Given the description of an element on the screen output the (x, y) to click on. 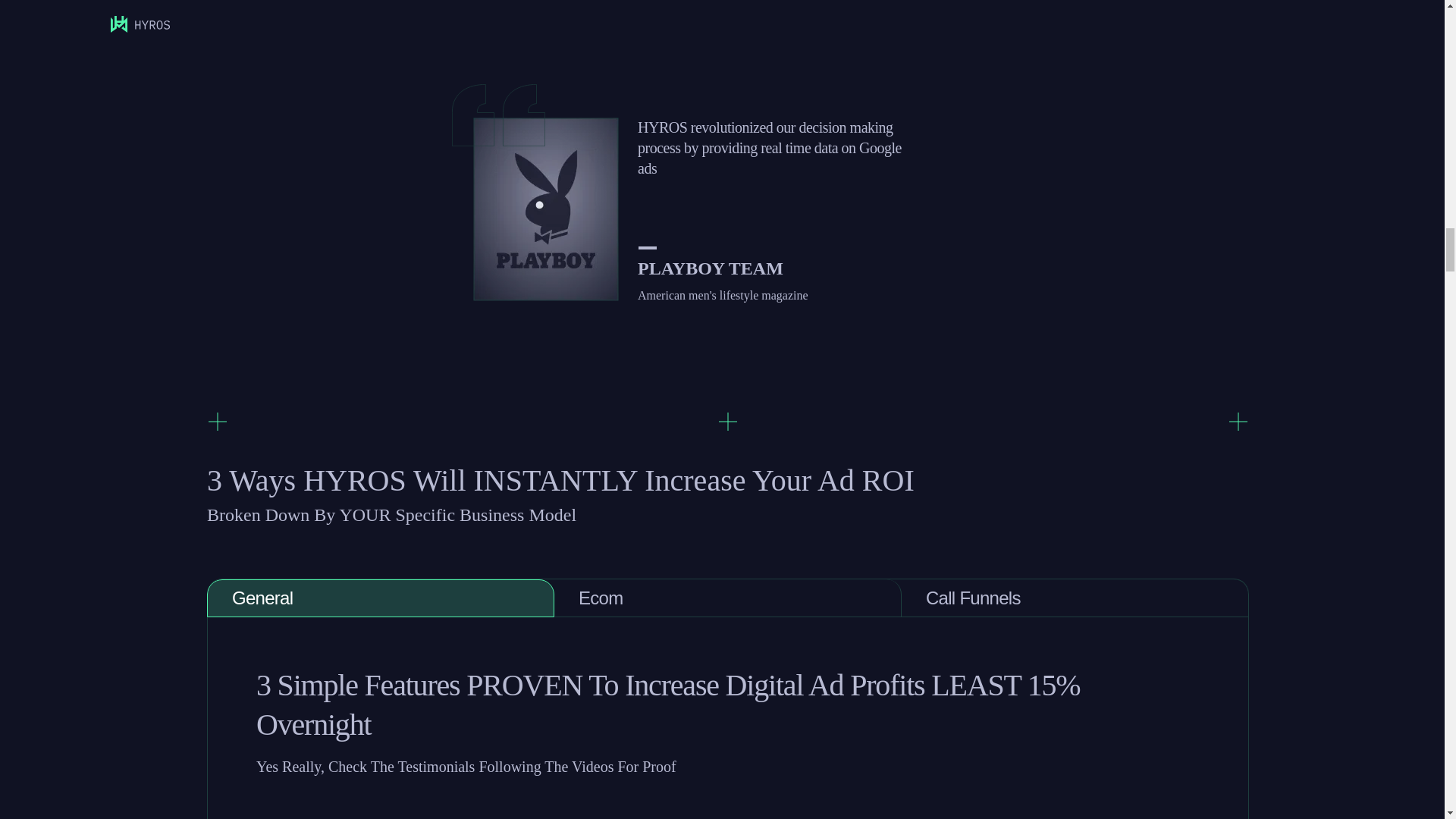
Call Funnels (1075, 598)
Ecom (727, 598)
General (380, 598)
